Given the description of an element on the screen output the (x, y) to click on. 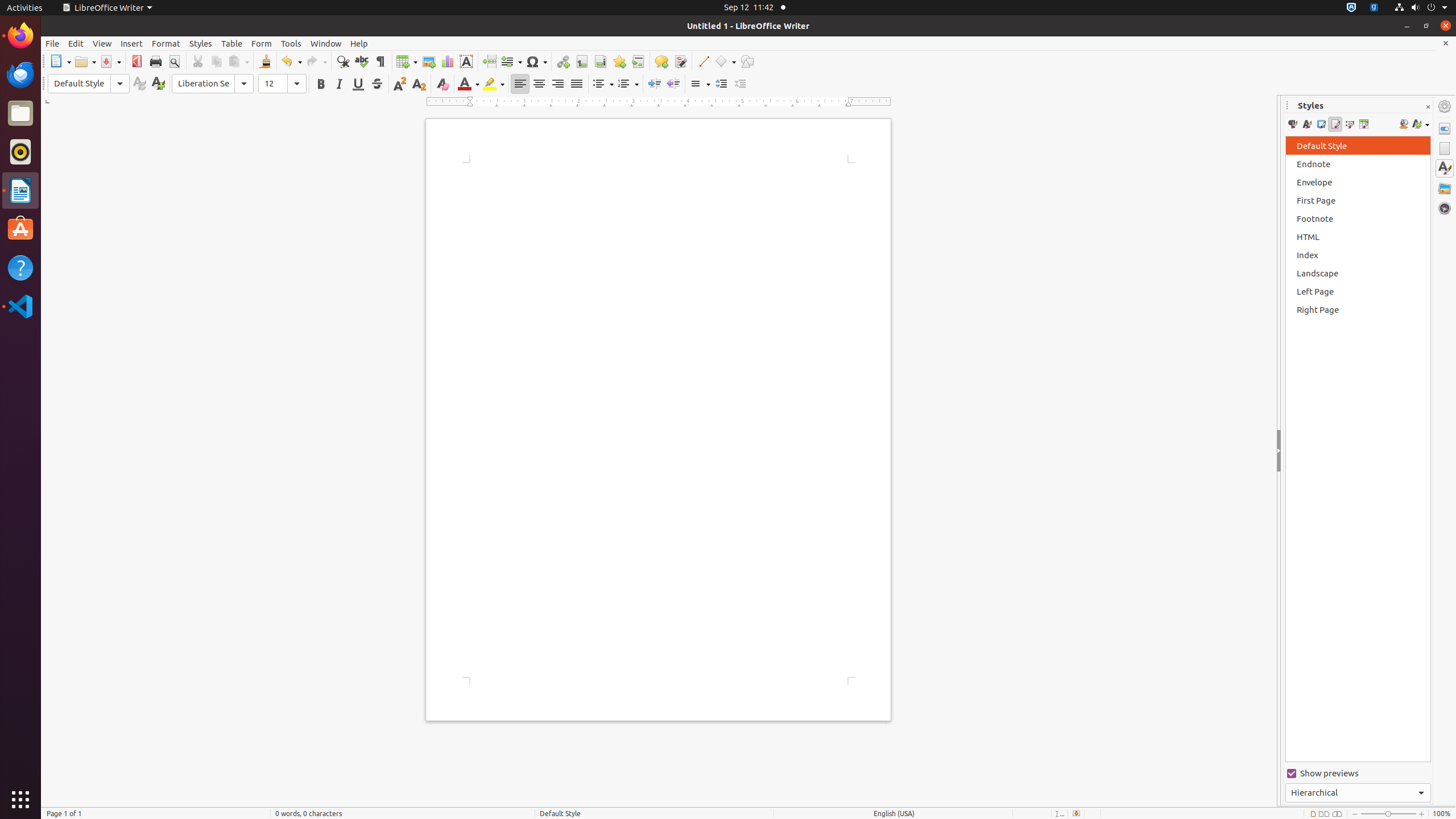
Formatting Marks Element type: toggle-button (379, 61)
Table Element type: menu (231, 43)
Line Spacing Element type: push-button (699, 83)
Page Styles Element type: push-button (1335, 123)
Right Element type: toggle-button (557, 83)
